Given the description of an element on the screen output the (x, y) to click on. 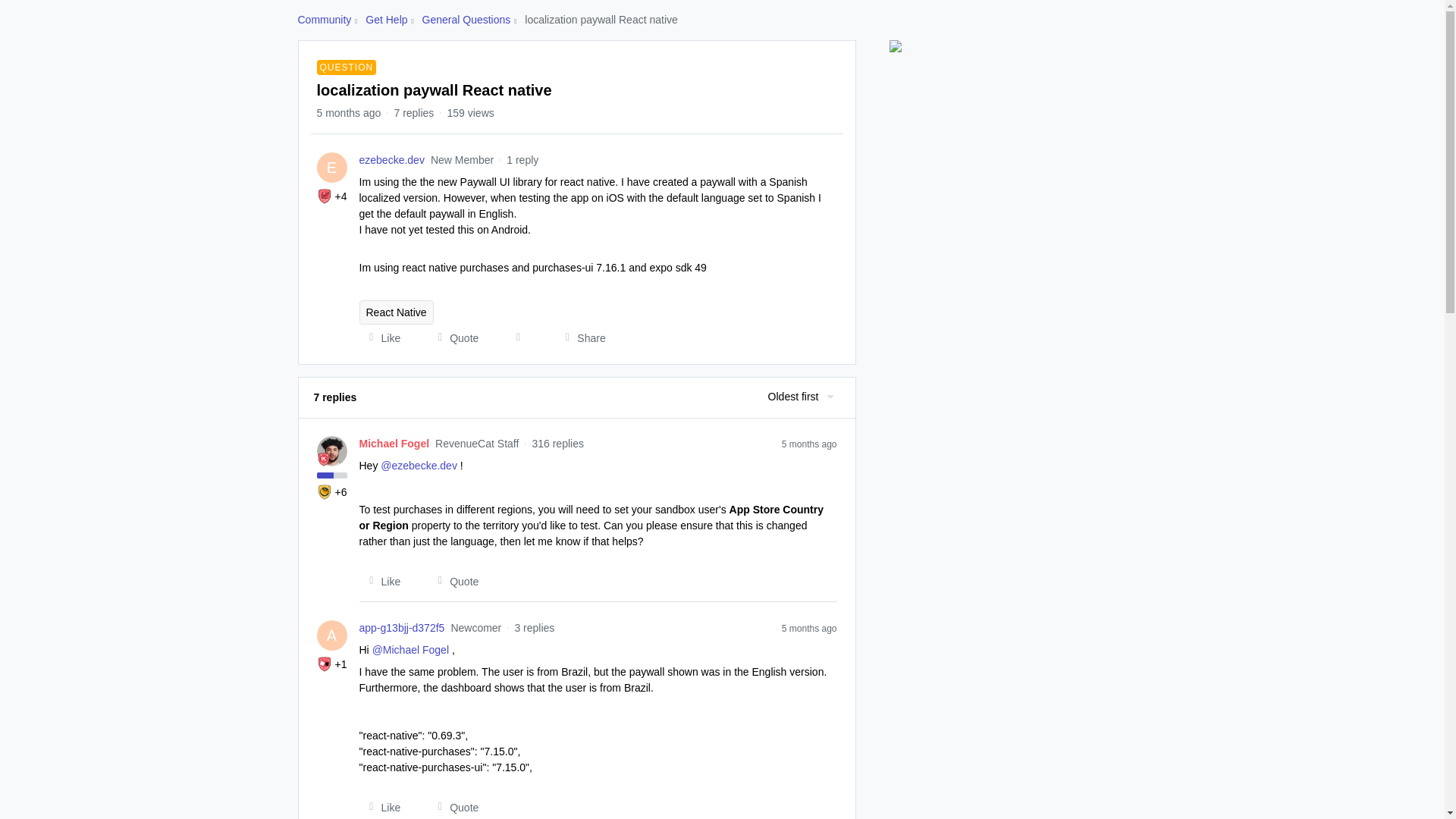
app-g13bjj-d372f5 (402, 627)
Top Banana (324, 491)
7 replies (413, 112)
Why Not Both? (324, 663)
5 months ago (809, 443)
Strength In Numbers (324, 196)
Quote (453, 807)
React Native (396, 312)
Like (380, 581)
A (332, 634)
ezebecke.dev (392, 160)
Community (323, 19)
ezebecke.dev (392, 160)
Quote (453, 337)
Like (380, 807)
